Given the description of an element on the screen output the (x, y) to click on. 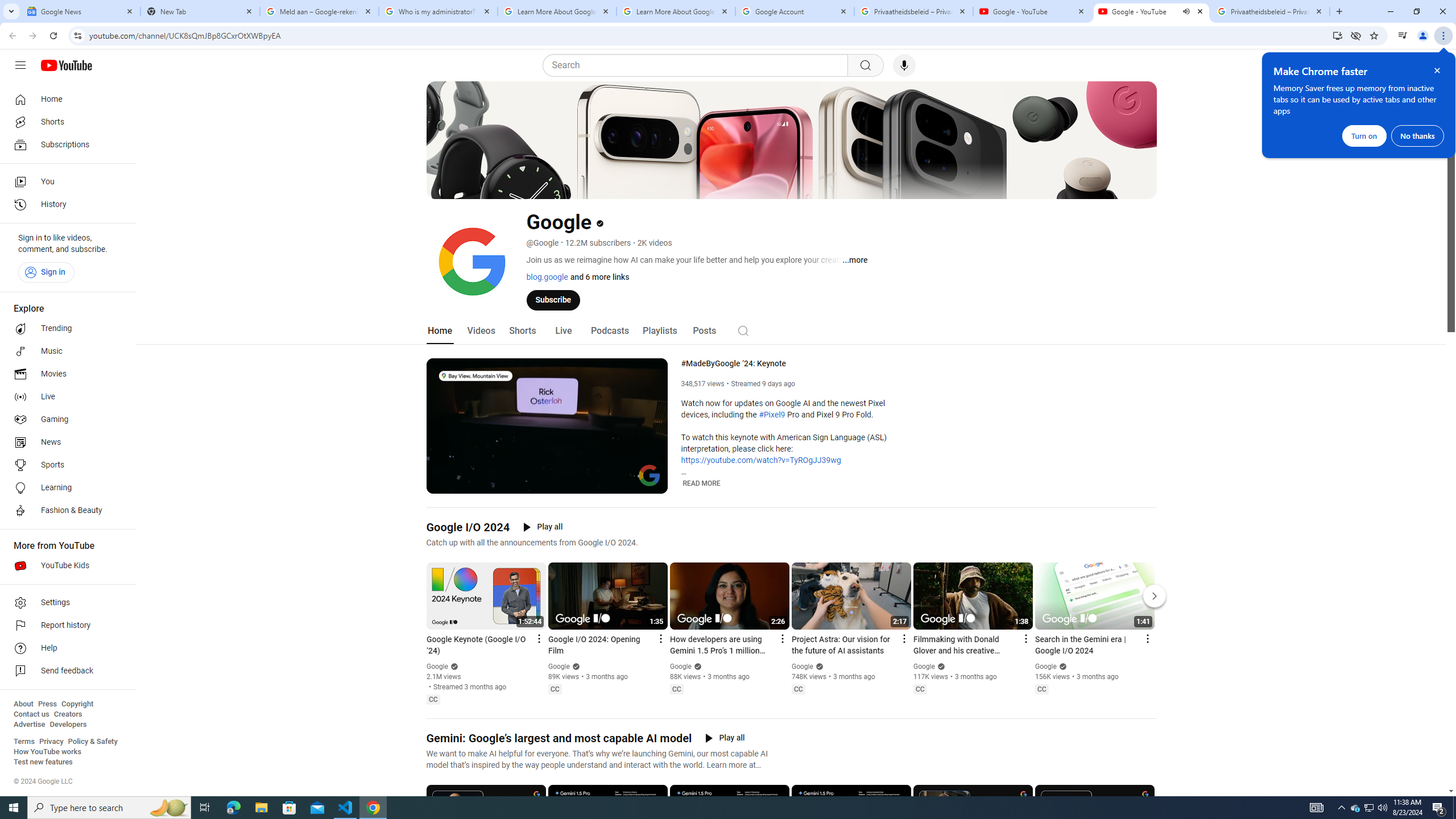
Policy & Safety (91, 741)
#Pixel9 (771, 414)
